Given the description of an element on the screen output the (x, y) to click on. 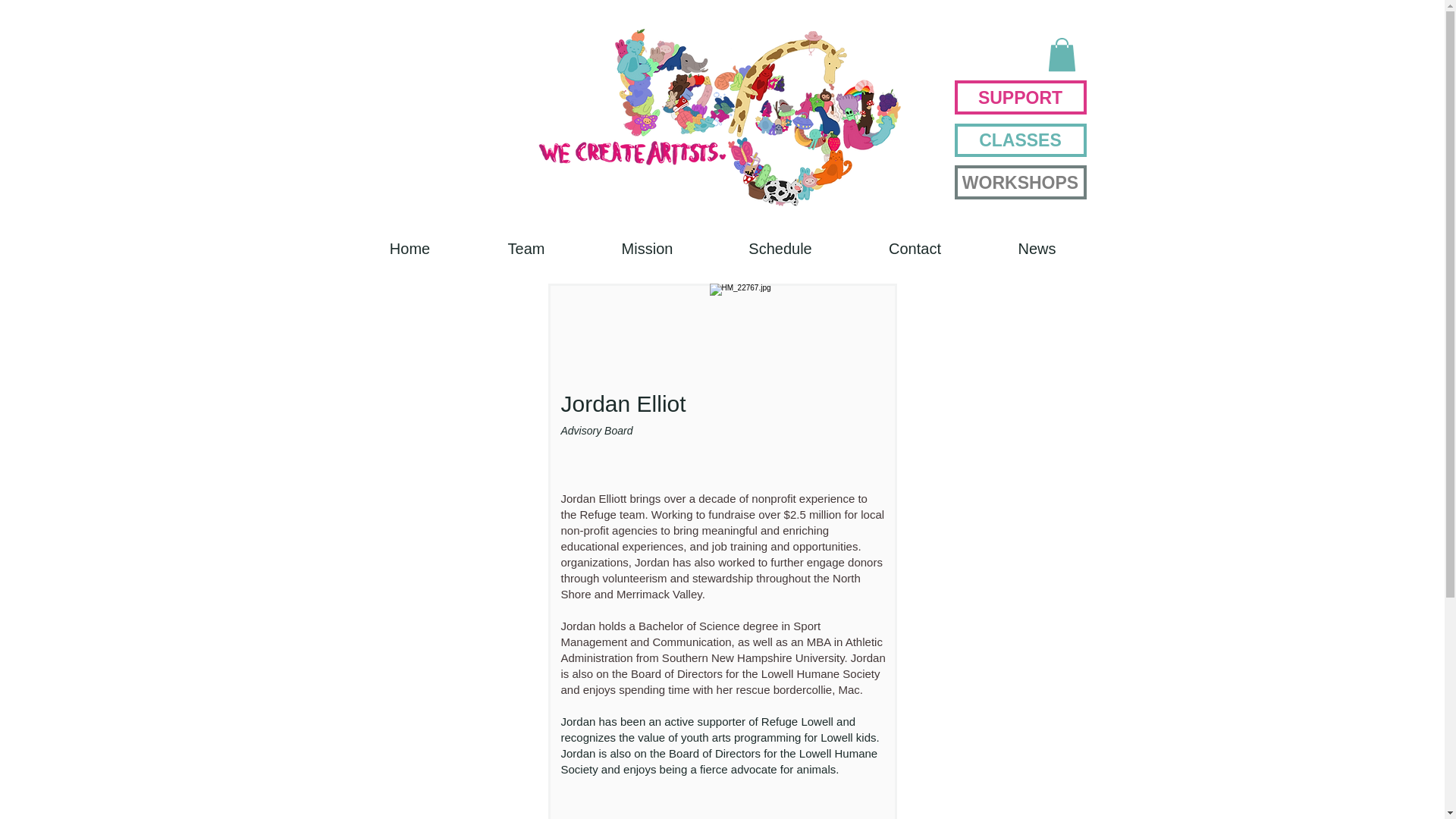
Home (409, 248)
WORKSHOPS (1019, 182)
Mission (647, 248)
Contact (913, 248)
CLASSES (1019, 140)
SUPPORT (1019, 97)
Team (525, 248)
Schedule (780, 248)
News (1036, 248)
